Given the description of an element on the screen output the (x, y) to click on. 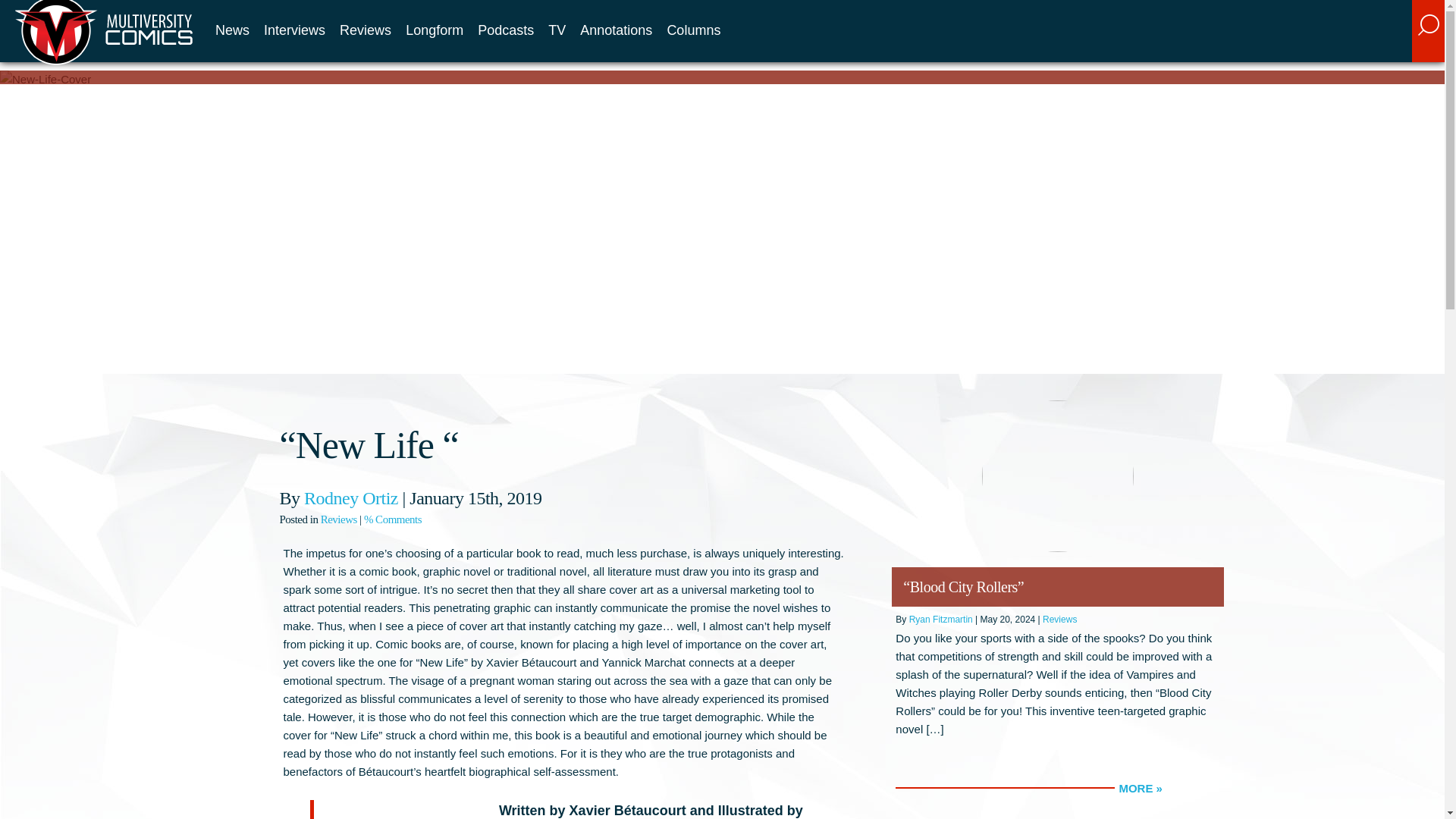
Cover by Yannick Marchat (403, 813)
Posts by Rodney Ortiz (350, 497)
Reviews (1059, 619)
Search (1323, 43)
TV (557, 29)
Columns (693, 29)
Reviews (338, 519)
Podcasts (505, 29)
Rodney Ortiz (350, 497)
Posts by Ryan Fitzmartin (940, 619)
Reviews (365, 29)
Interviews (293, 29)
Longform (434, 29)
Annotations (615, 29)
News (231, 29)
